Given the description of an element on the screen output the (x, y) to click on. 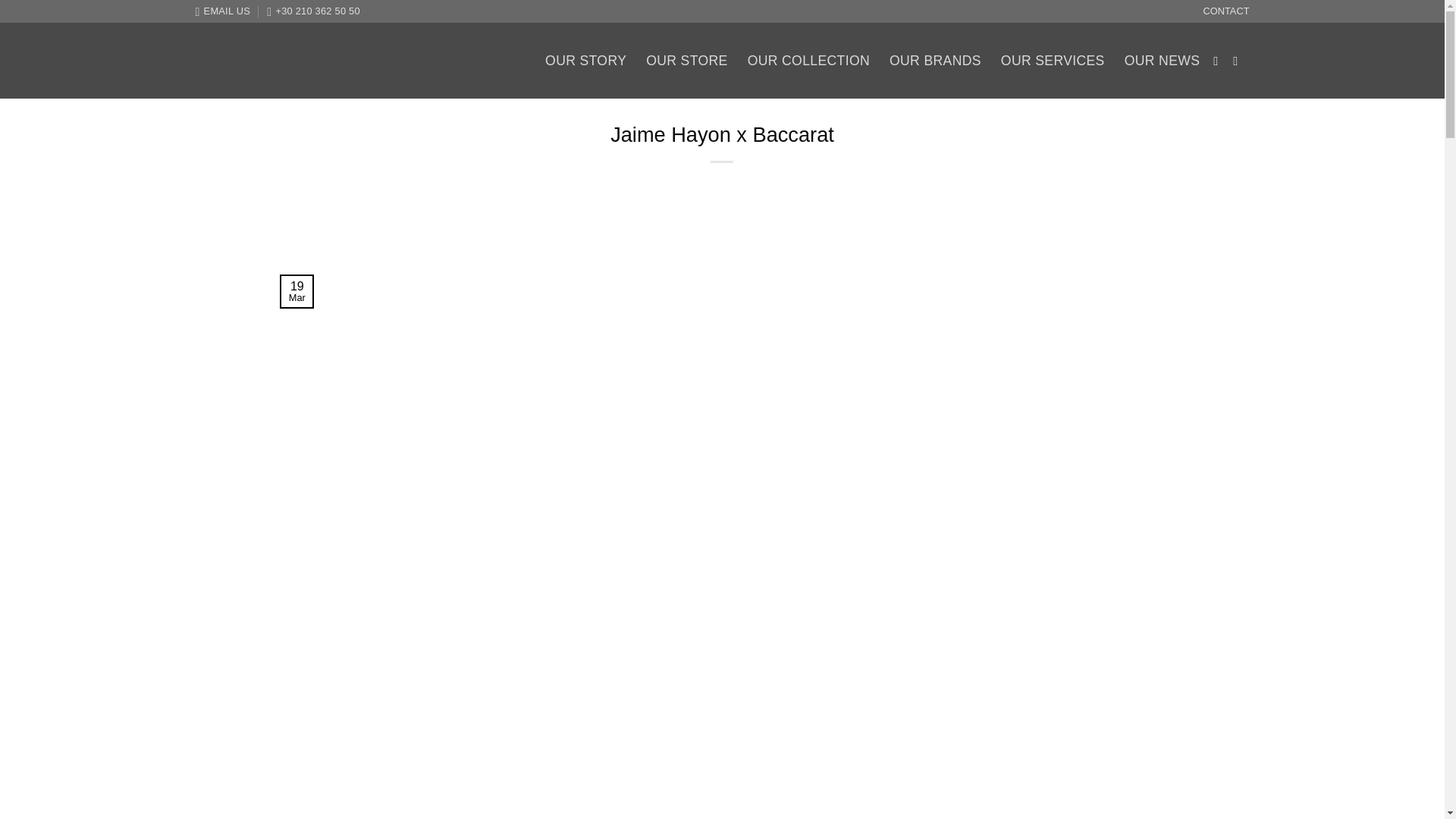
OUR COLLECTION (808, 60)
Deros - Deros The Shop (309, 60)
EMAIL US (222, 11)
OUR STORE (686, 60)
CONTACT (1226, 11)
OUR STORY (585, 60)
Follow on Facebook (1218, 60)
OUR BRANDS (935, 60)
